Given the description of an element on the screen output the (x, y) to click on. 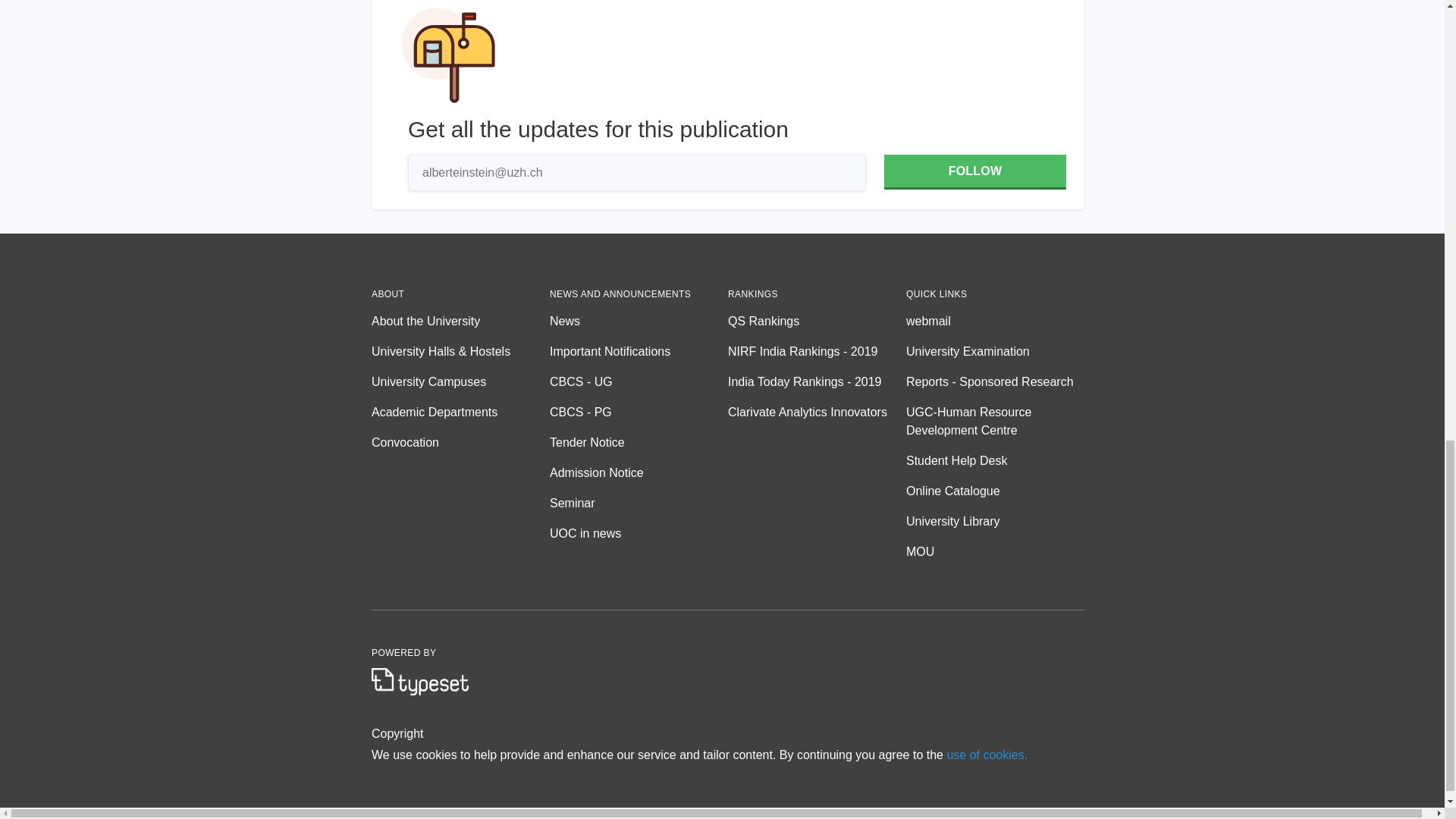
News (639, 321)
Subscribe form hero illustration (448, 56)
FOLLOW (974, 171)
University Examination (994, 352)
CBCS - PG (639, 412)
UOC in news (639, 533)
Reports - Sponsored Research (994, 382)
Tender Notice (639, 443)
Student Help Desk (994, 461)
Convocation (460, 443)
About the University (460, 321)
Logo of Typeset (419, 681)
UGC-Human Resource Development Centre (994, 421)
Important Notifications (639, 352)
NIRF India Rankings - 2019 (816, 352)
